Given the description of an element on the screen output the (x, y) to click on. 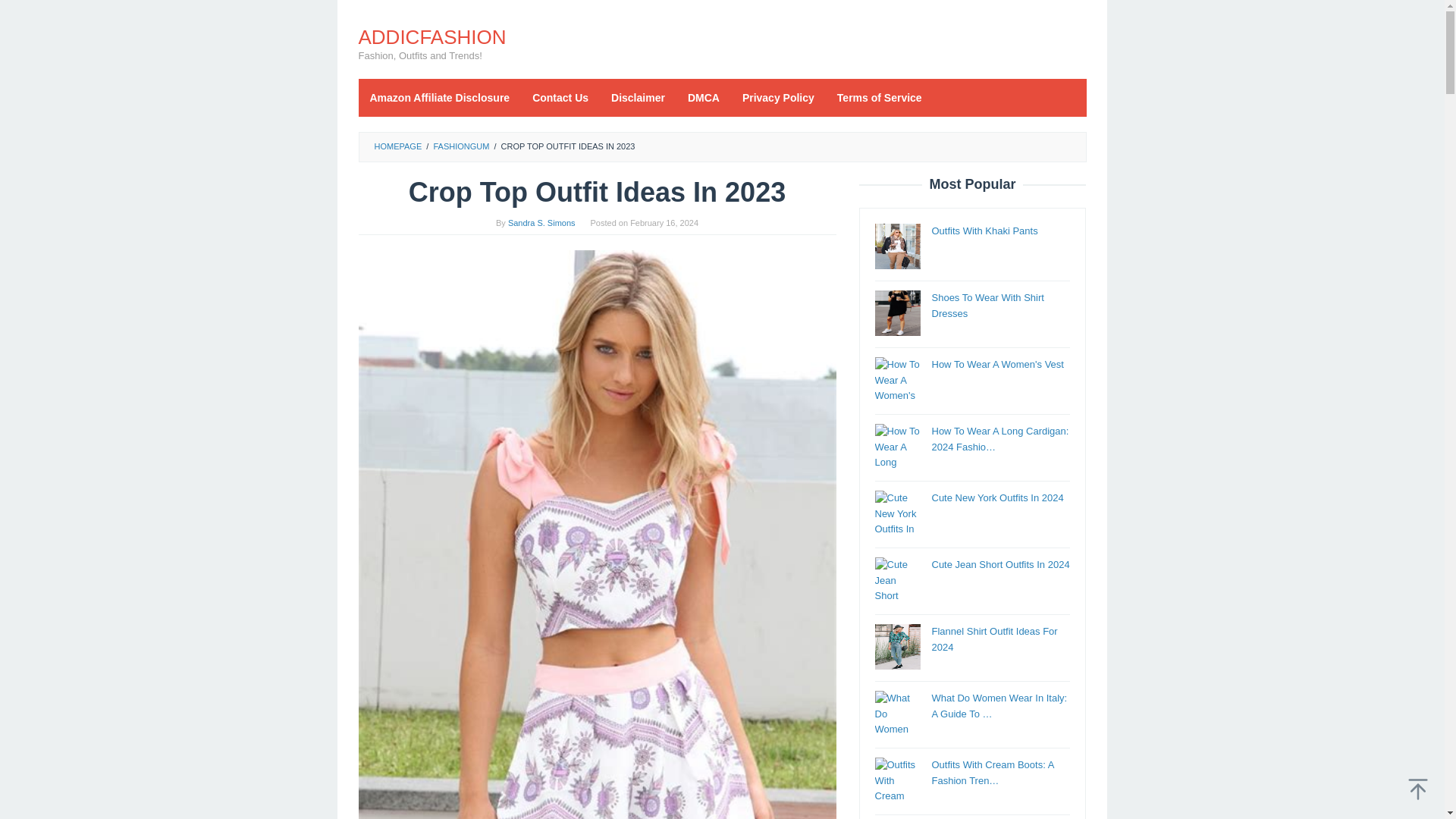
Cute New York Outfits In 2024 (996, 497)
DMCA (703, 97)
Outfits With Khaki Pants (983, 230)
ADDICFASHION (431, 36)
Flannel Shirt Outfit Ideas For 2024 (994, 638)
HOMEPAGE (398, 145)
Cute Jean Short Outfits In 2024 (999, 564)
Amazon Affiliate Disclosure (439, 97)
Shoes To Wear With Shirt Dresses (987, 305)
Terms of Service (879, 97)
